Given the description of an element on the screen output the (x, y) to click on. 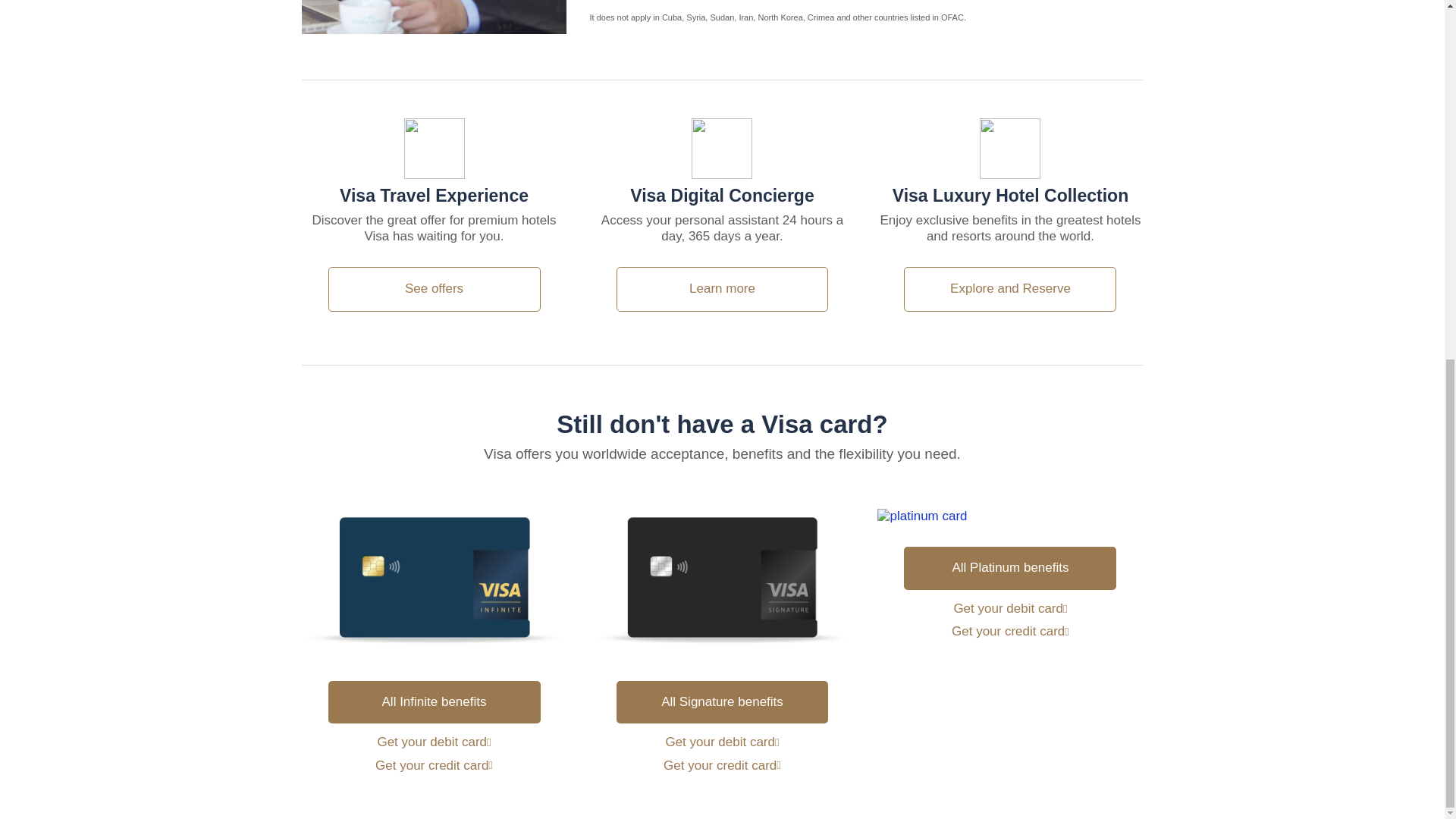
Get your credit card (1010, 631)
Explore and Reserve (1010, 288)
Get your debit card (721, 742)
All Infinite benefits (433, 702)
All Platinum benefits (1010, 567)
See offers (433, 288)
All Infinite benefits (434, 701)
Get your credit card (721, 765)
Explore and Reserve (1010, 288)
See offers (434, 288)
Learn more (721, 288)
All Platinum benefits (1010, 567)
Learn more (721, 288)
Get your debit card (1010, 608)
All Signature benefits (721, 701)
